Given the description of an element on the screen output the (x, y) to click on. 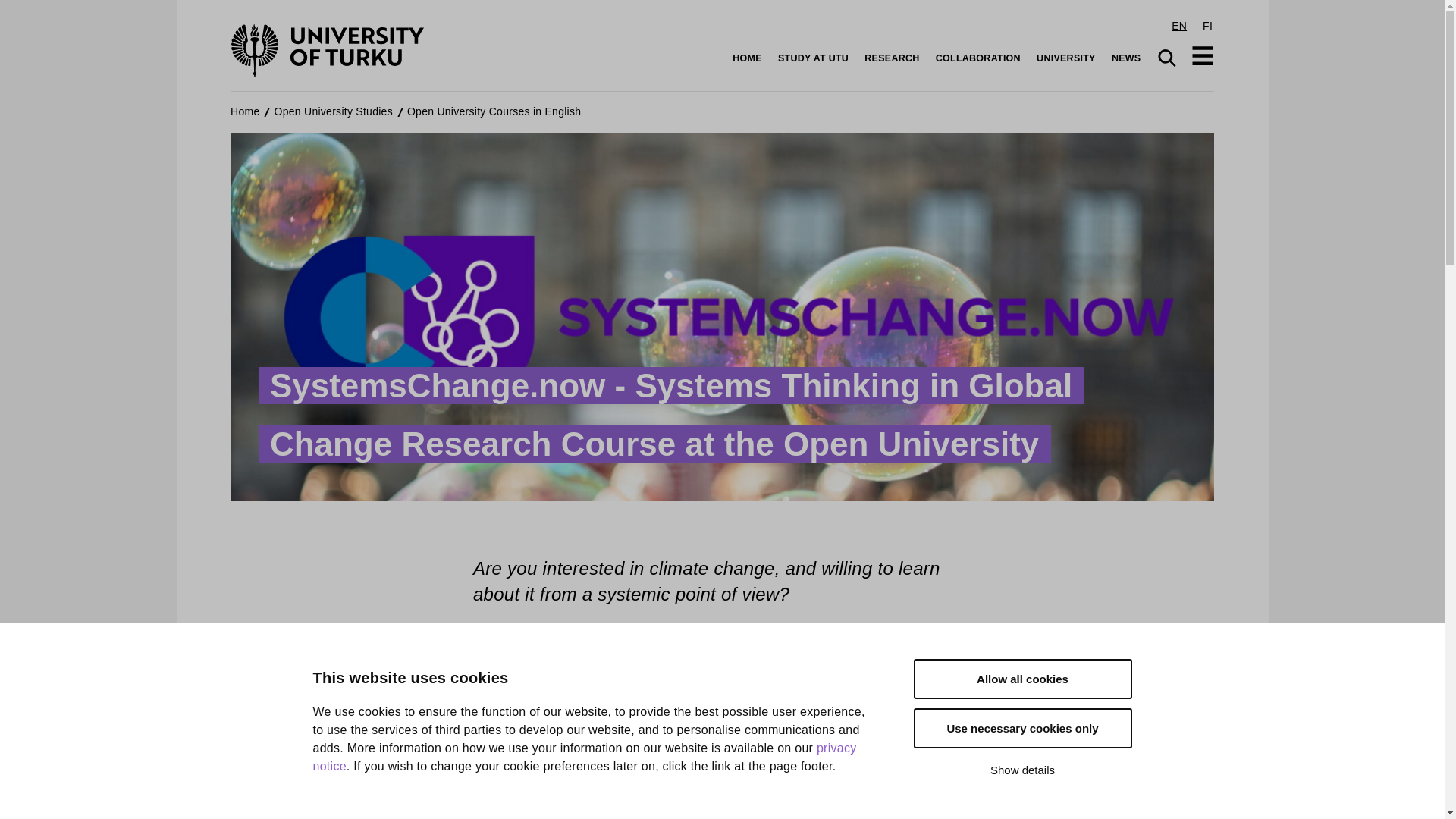
Use necessary cookies only (1021, 769)
Allow all cookies (1021, 727)
Show details (1021, 786)
privacy notice (584, 811)
